Given the description of an element on the screen output the (x, y) to click on. 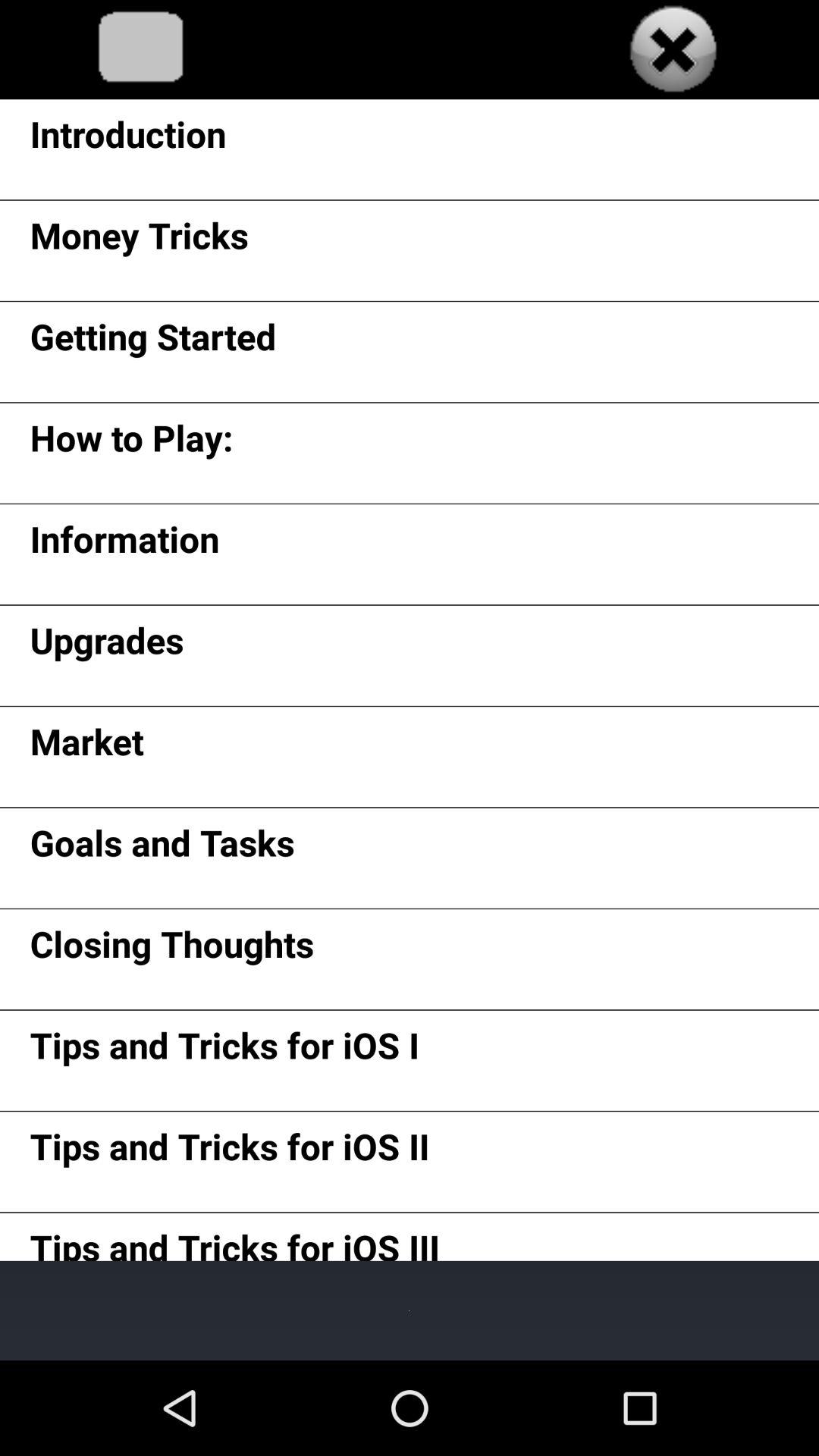
open app below goals and tasks icon (171, 949)
